Given the description of an element on the screen output the (x, y) to click on. 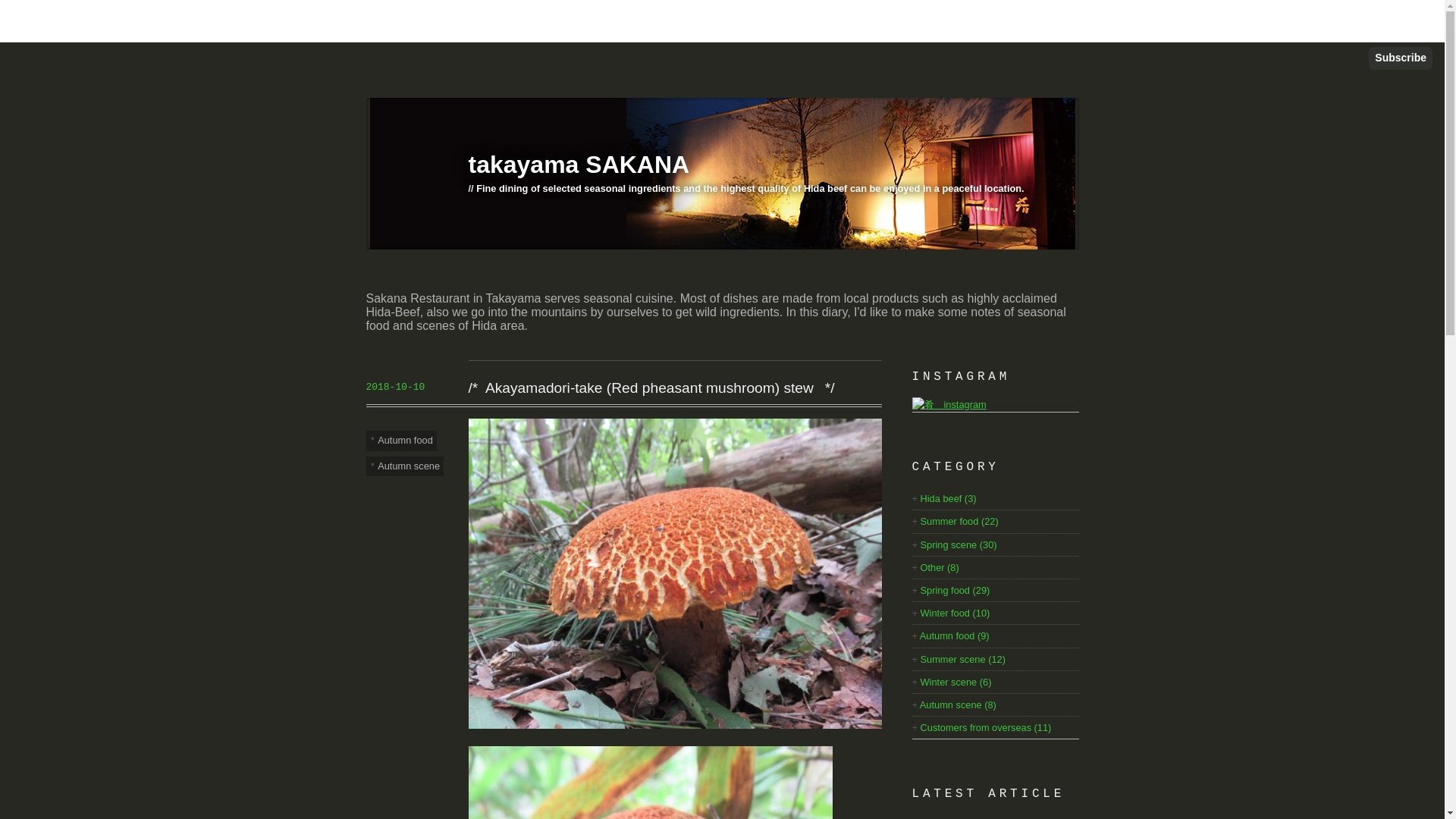
2018-10-10 (411, 387)
Autumn food (400, 440)
2018-10-10T01:54:52Z (395, 387)
LATEST ARTICLE (987, 793)
Subscribe (1400, 57)
Autumn scene (404, 466)
f:id:takayama-sakana:20181010103545j:plain (650, 782)
takayama SAKANA (579, 164)
f:id:takayama-sakana:20181010103537j:plain (675, 573)
